Given the description of an element on the screen output the (x, y) to click on. 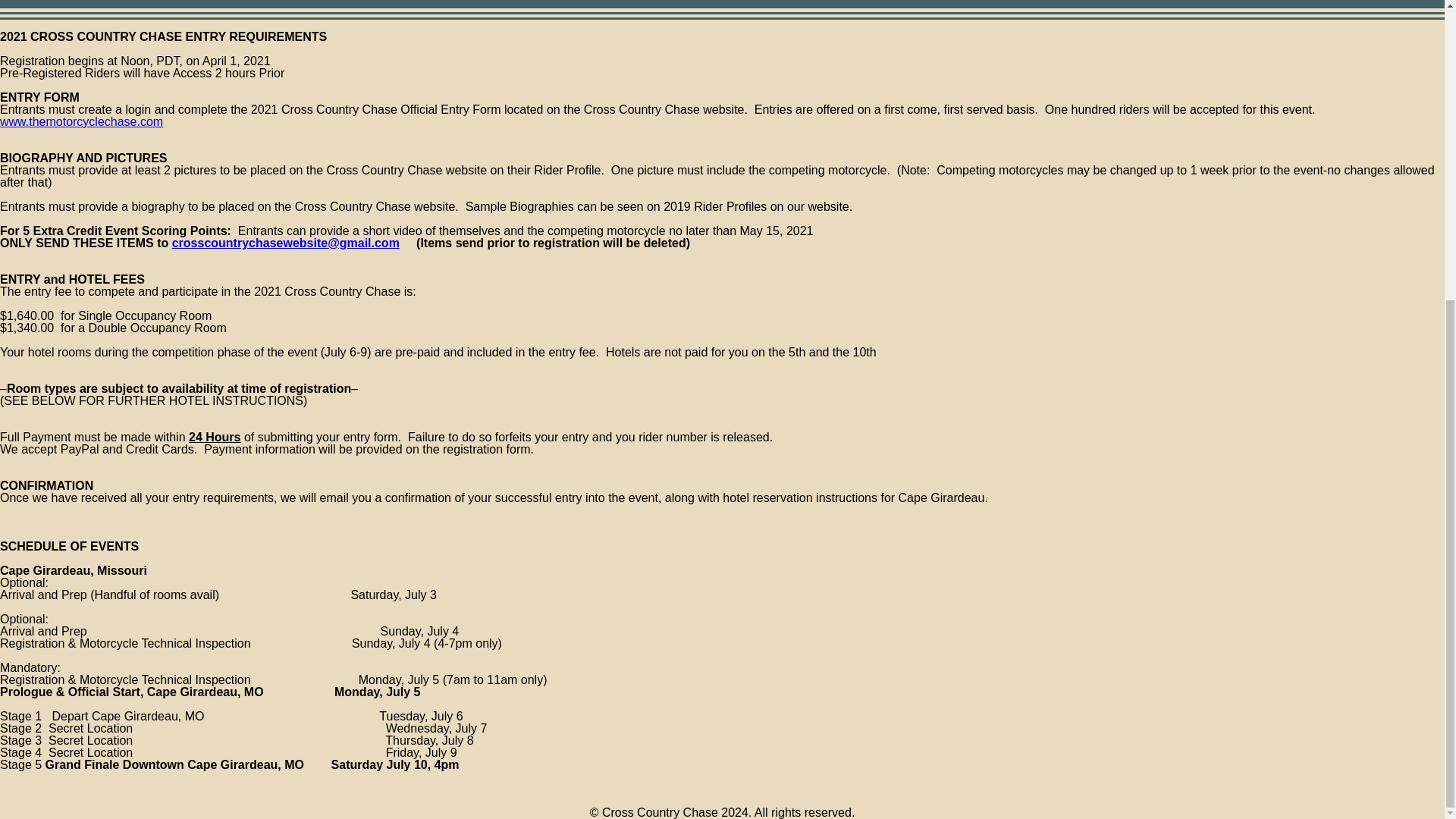
www.themotorcyclechase.com (81, 121)
